Given the description of an element on the screen output the (x, y) to click on. 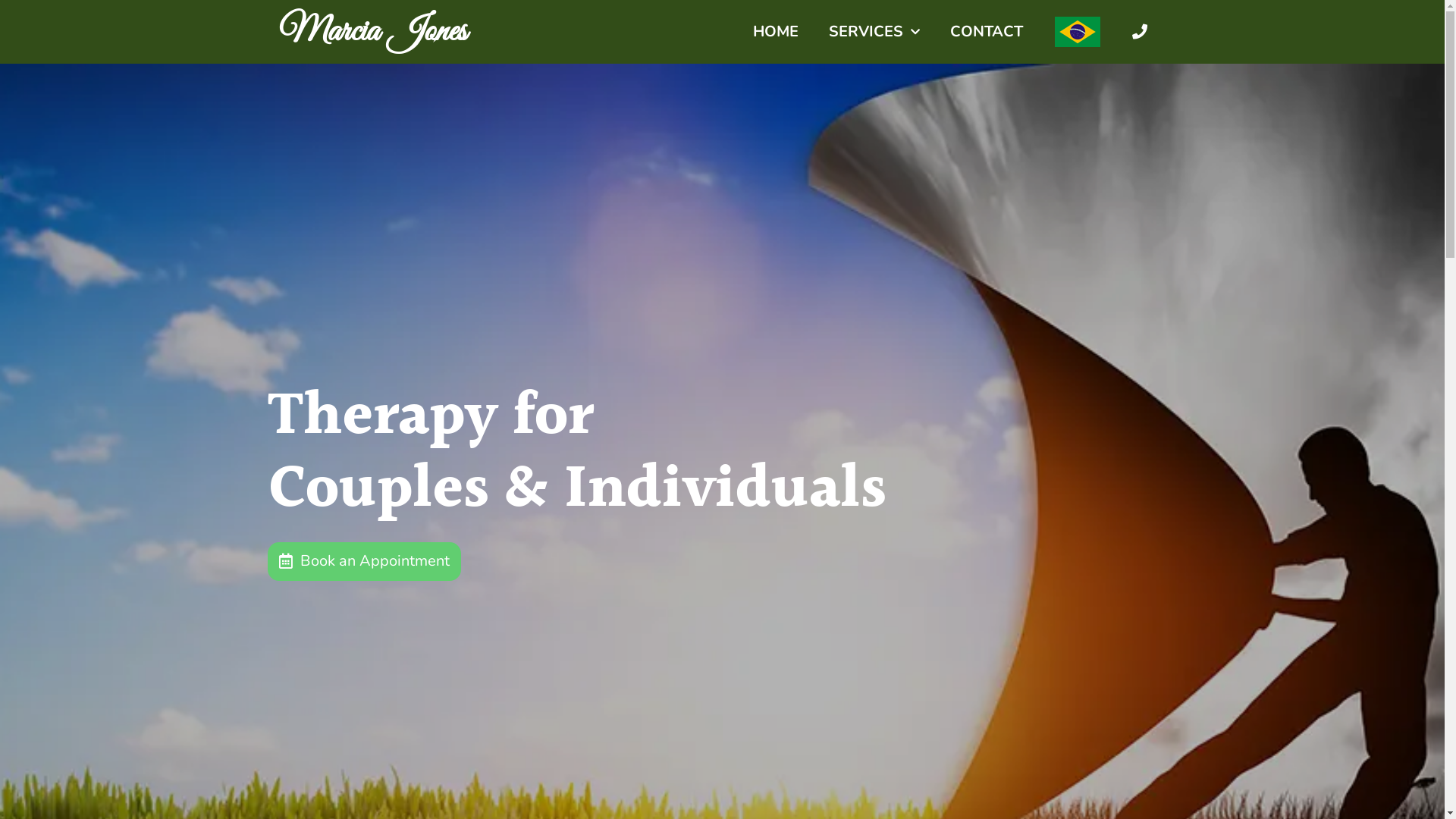
CONTACT Element type: text (985, 31)
HOME Element type: text (774, 31)
SERVICES Element type: text (873, 31)
Book an Appointment Element type: text (363, 560)
PT Element type: text (1076, 31)
Marcia Jones Element type: text (372, 31)
